Given the description of an element on the screen output the (x, y) to click on. 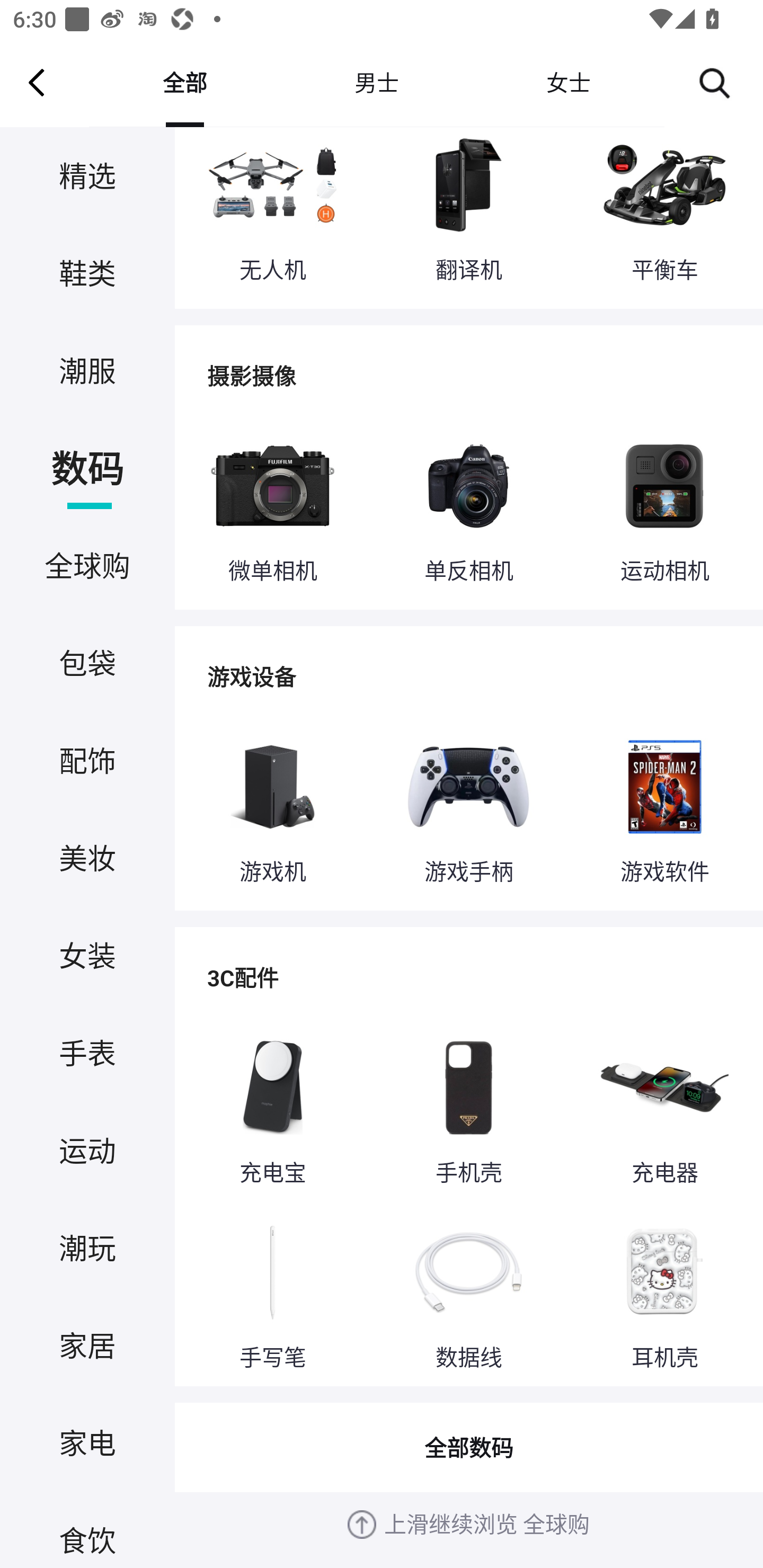
Navigate up (36, 82)
全部 (184, 82)
男士 (376, 82)
女士 (568, 82)
无人机 (272, 213)
翻译机 (468, 213)
平衡车 (664, 213)
微单相机 (272, 506)
单反相机 (468, 506)
运动相机 (664, 506)
游戏机 (272, 807)
游戏手柄 (468, 807)
游戏软件 (664, 807)
充电宝 (272, 1108)
手机壳 (468, 1108)
充电器 (664, 1108)
手写笔 (272, 1293)
数据线 (468, 1293)
耳机壳 (664, 1293)
全部数码 (468, 1447)
